Given the description of an element on the screen output the (x, y) to click on. 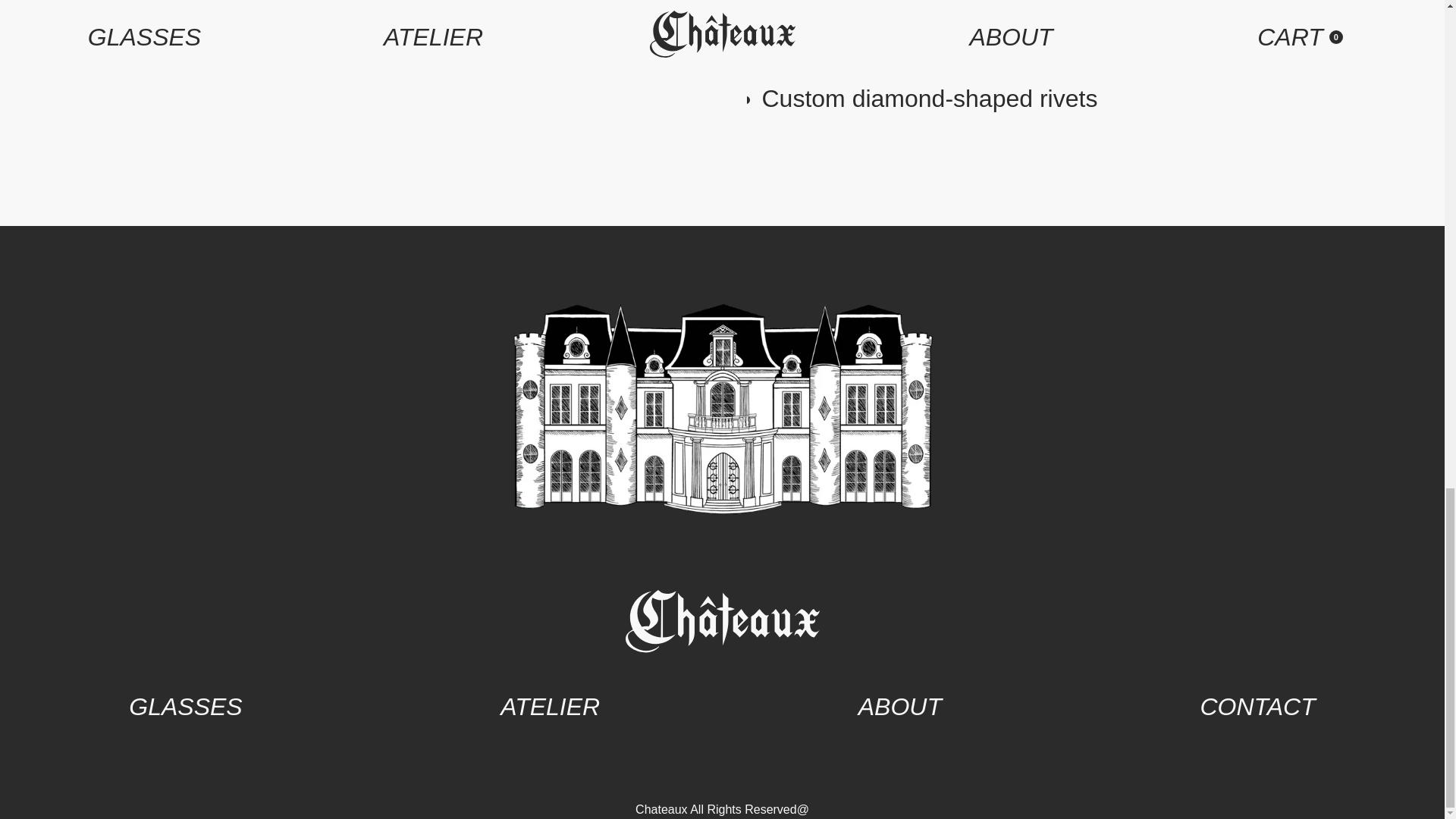
ATELIER (549, 706)
GLASSES (185, 706)
CONTACT (1256, 706)
ABOUT (900, 706)
